Given the description of an element on the screen output the (x, y) to click on. 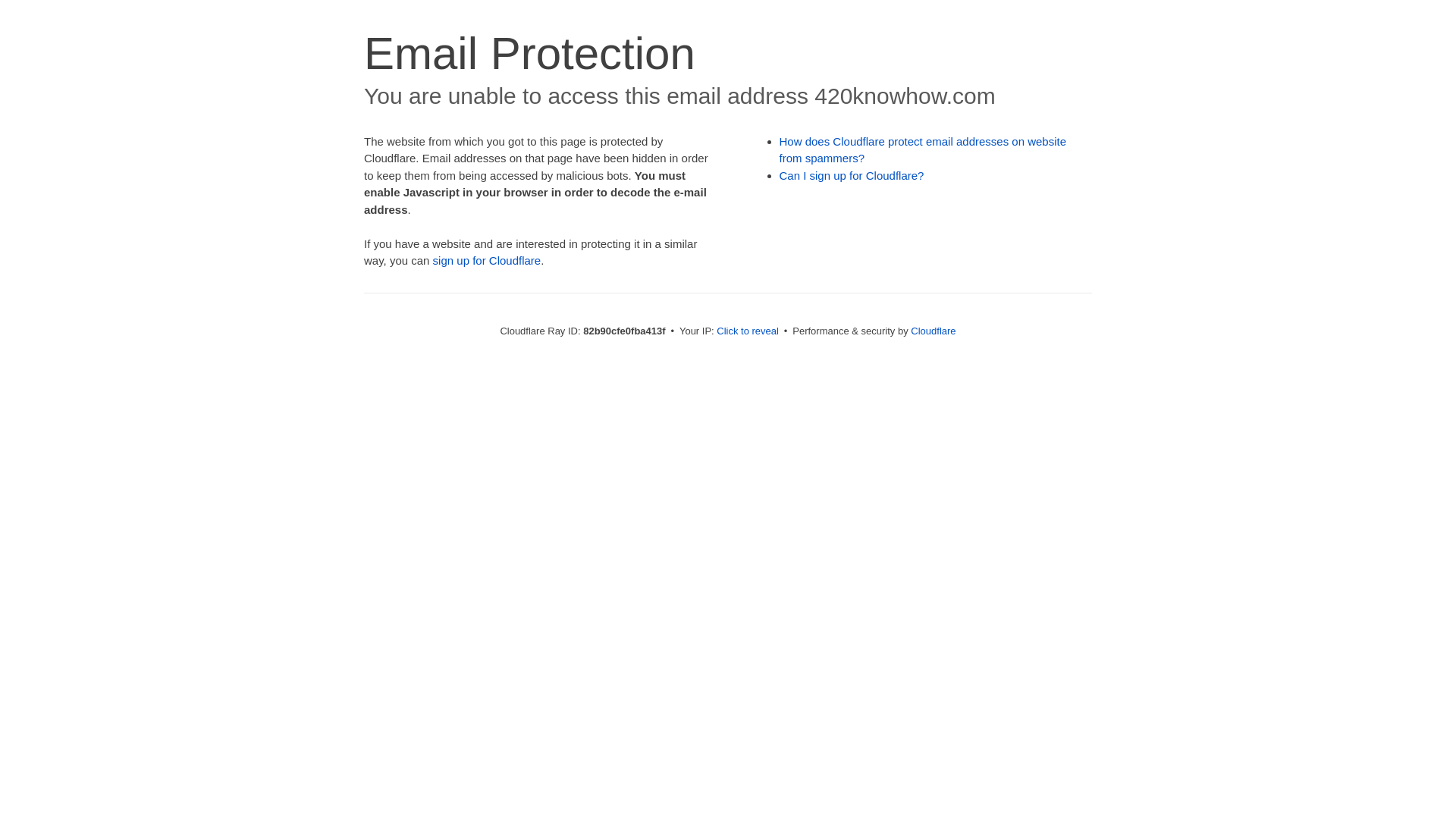
Can I sign up for Cloudflare? Element type: text (851, 175)
Cloudflare Element type: text (932, 330)
sign up for Cloudflare Element type: text (487, 260)
Click to reveal Element type: text (747, 330)
